Given the description of an element on the screen output the (x, y) to click on. 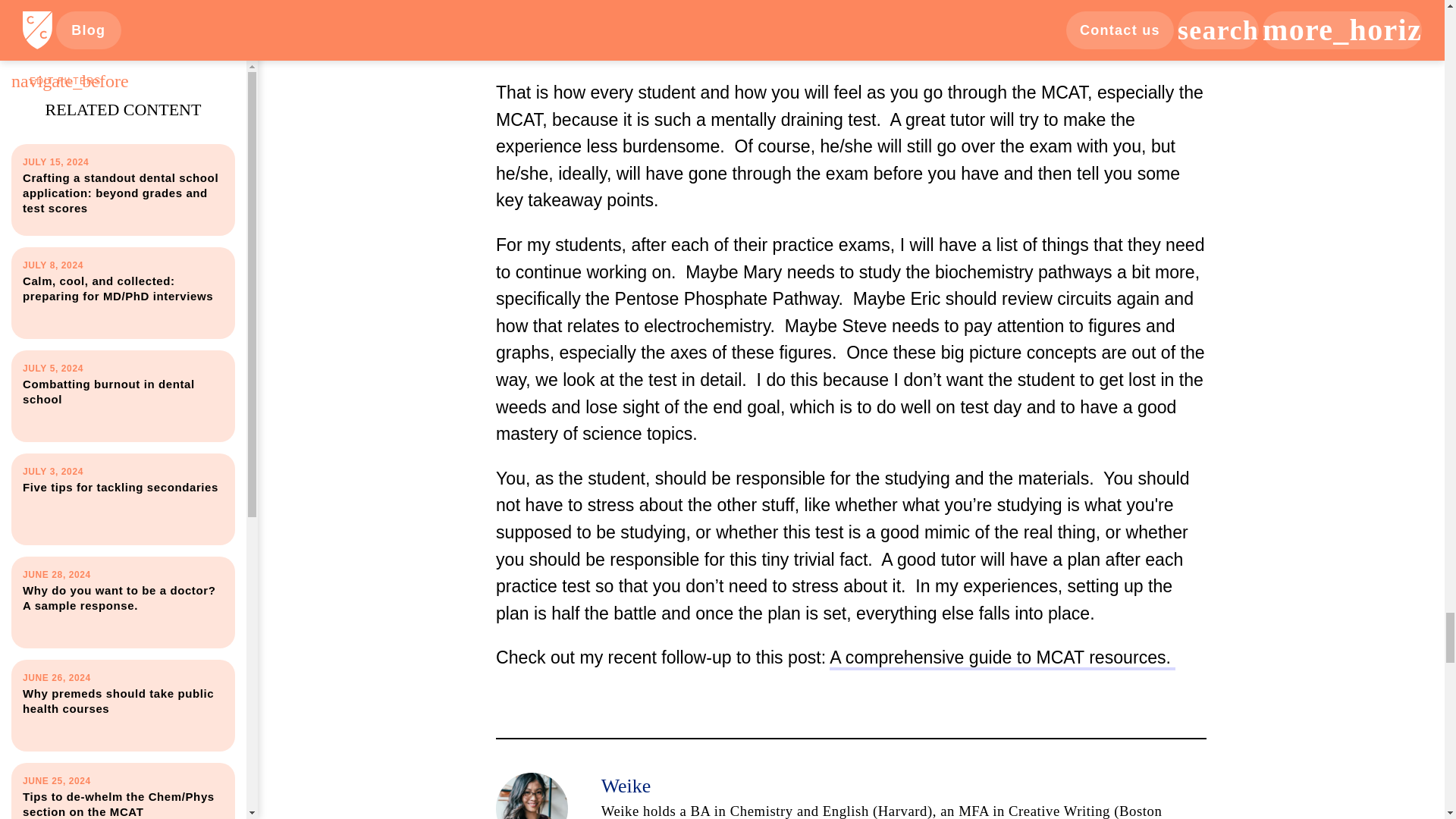
A comprehensive guide to MCAT resources.  (1001, 657)
